Given the description of an element on the screen output the (x, y) to click on. 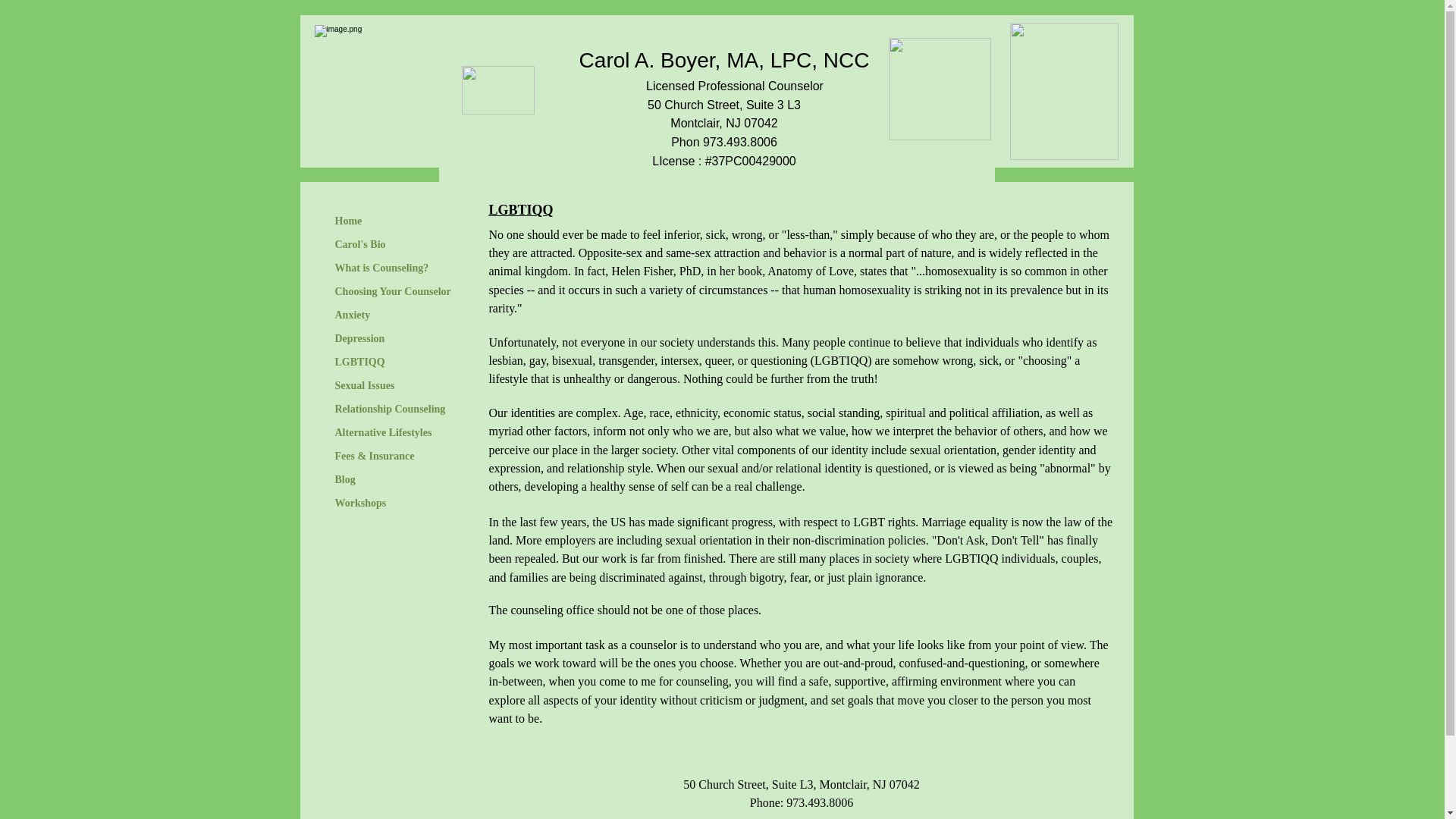
Alternative Lifestyles (383, 432)
Choosing Your Counselor (392, 291)
What is Counseling? (381, 268)
Blog (344, 479)
Home (348, 220)
LGBTIQQ (360, 362)
Workshops (360, 503)
Anxiety (352, 314)
Carol's Bio (360, 244)
Relationship Counseling (389, 409)
Depression (360, 338)
Sexual Issues (365, 385)
